Given the description of an element on the screen output the (x, y) to click on. 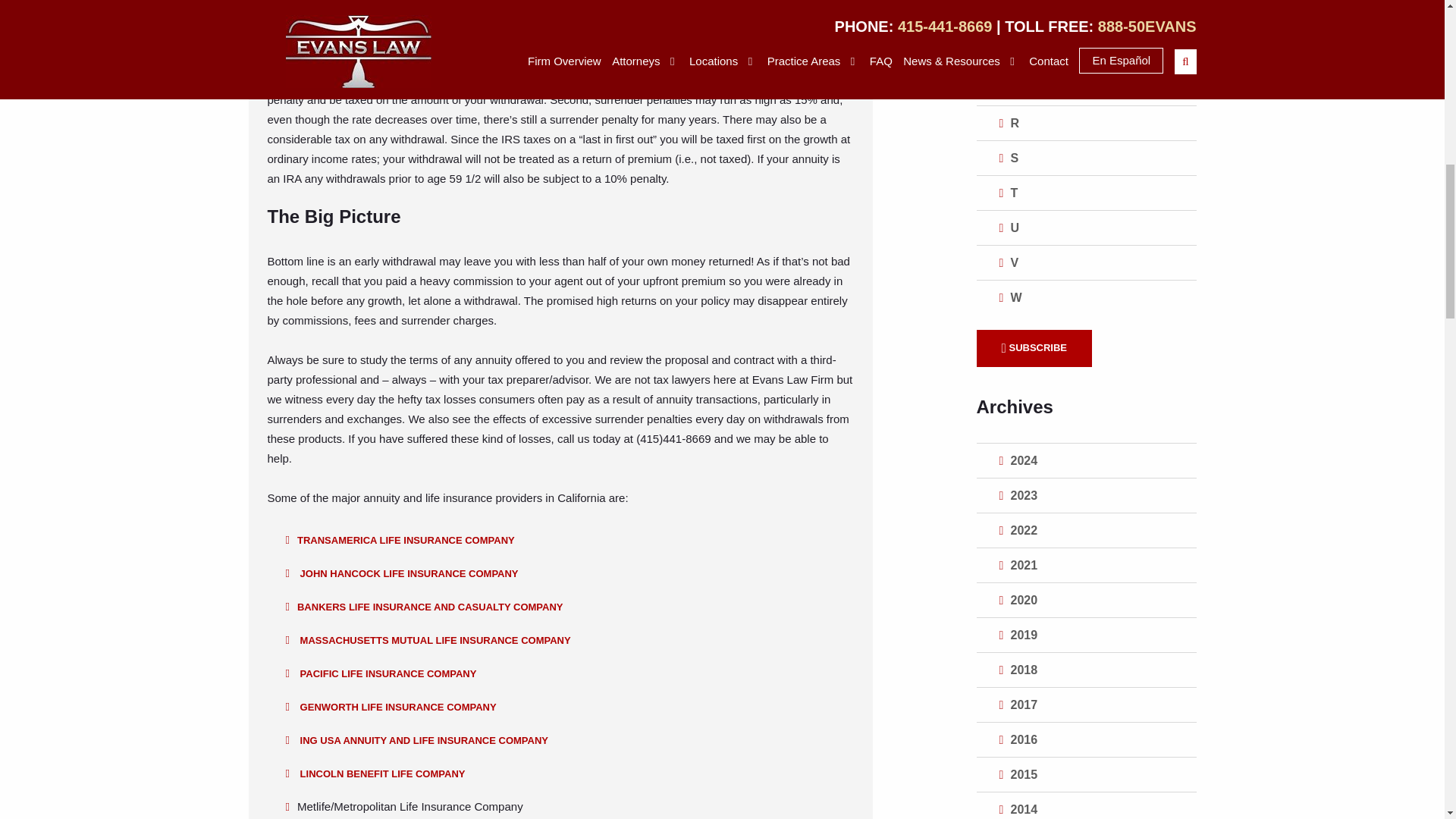
Year 2020 archives (1086, 600)
Year 2019 archives (1086, 634)
Year 2017 archives (1086, 704)
Year 2022 archives (1086, 530)
Year 2024 archives (1086, 460)
Year 2023 archives (1086, 495)
Year 2018 archives (1086, 669)
Year 2014 archives (1086, 805)
Year 2021 archives (1086, 564)
Year 2016 archives (1086, 739)
